Given the description of an element on the screen output the (x, y) to click on. 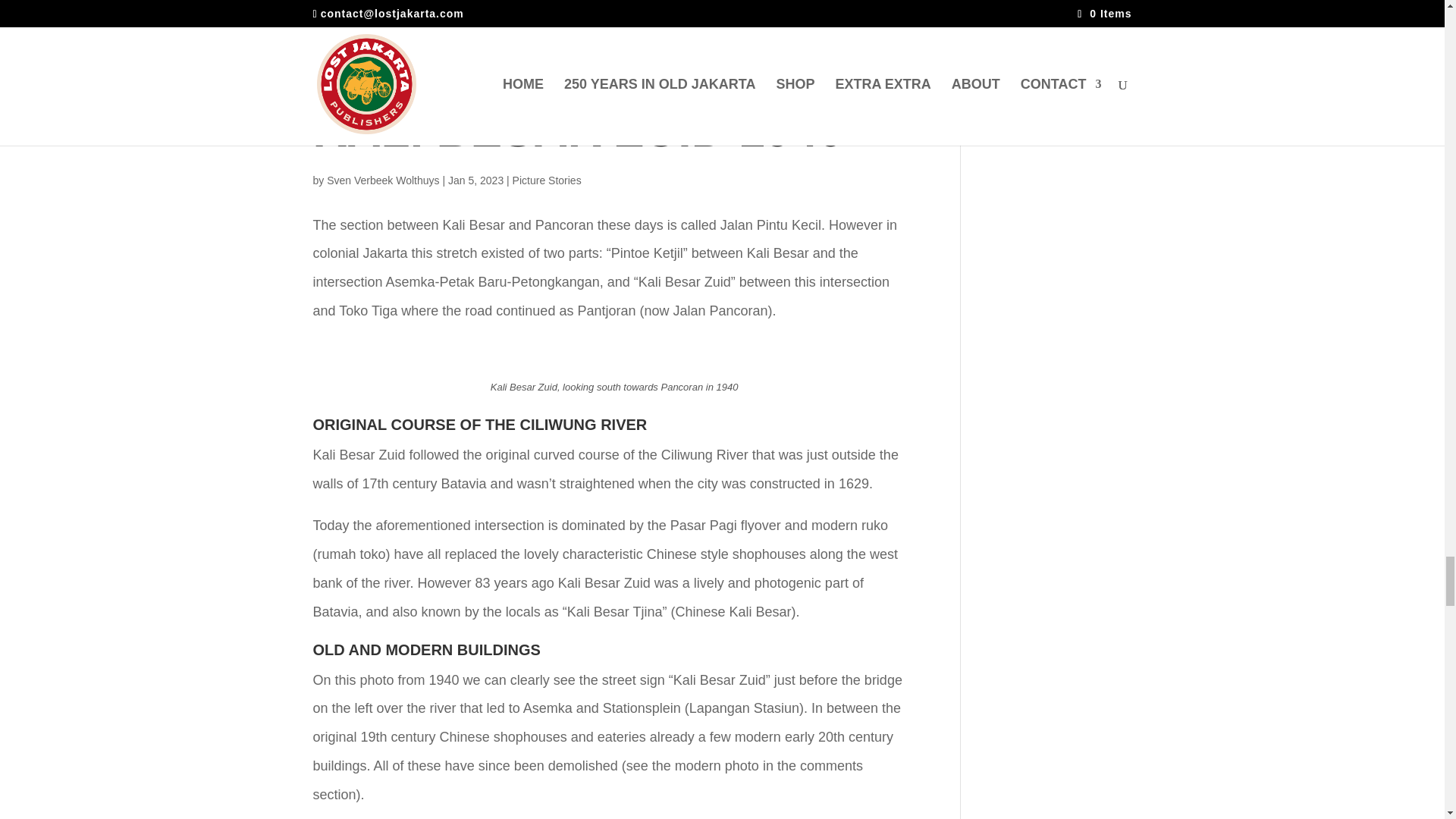
KALI BESAR ZUID 1940 (578, 130)
Posts by Sven Verbeek Wolthuys (382, 180)
Picture Stories (546, 180)
Sven Verbeek Wolthuys (382, 180)
